Given the description of an element on the screen output the (x, y) to click on. 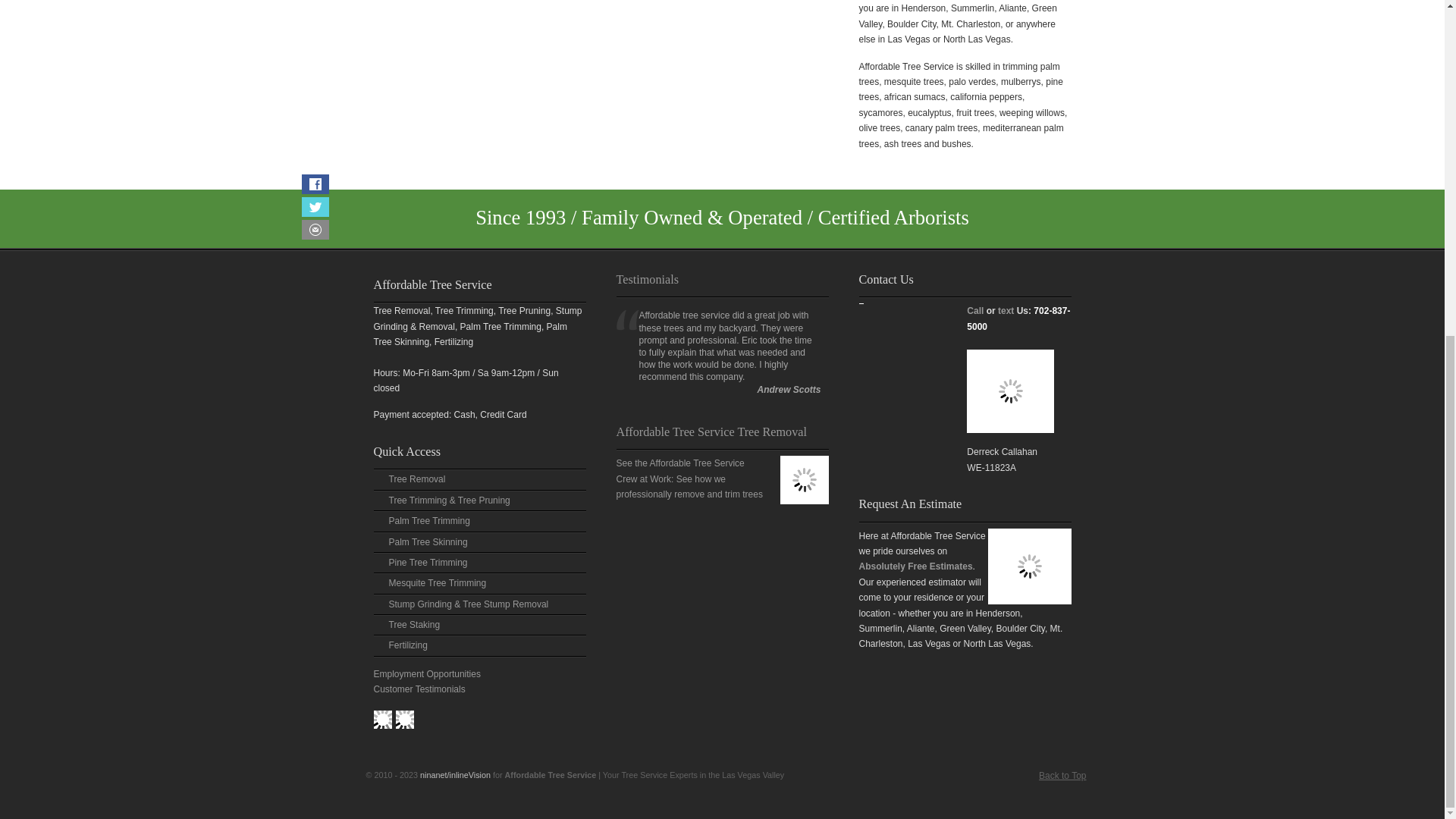
Affordable Tree Service on facebook (381, 719)
Affordable Tree Service on YouTube (404, 719)
Get a FREE Estimate (1010, 440)
